Given the description of an element on the screen output the (x, y) to click on. 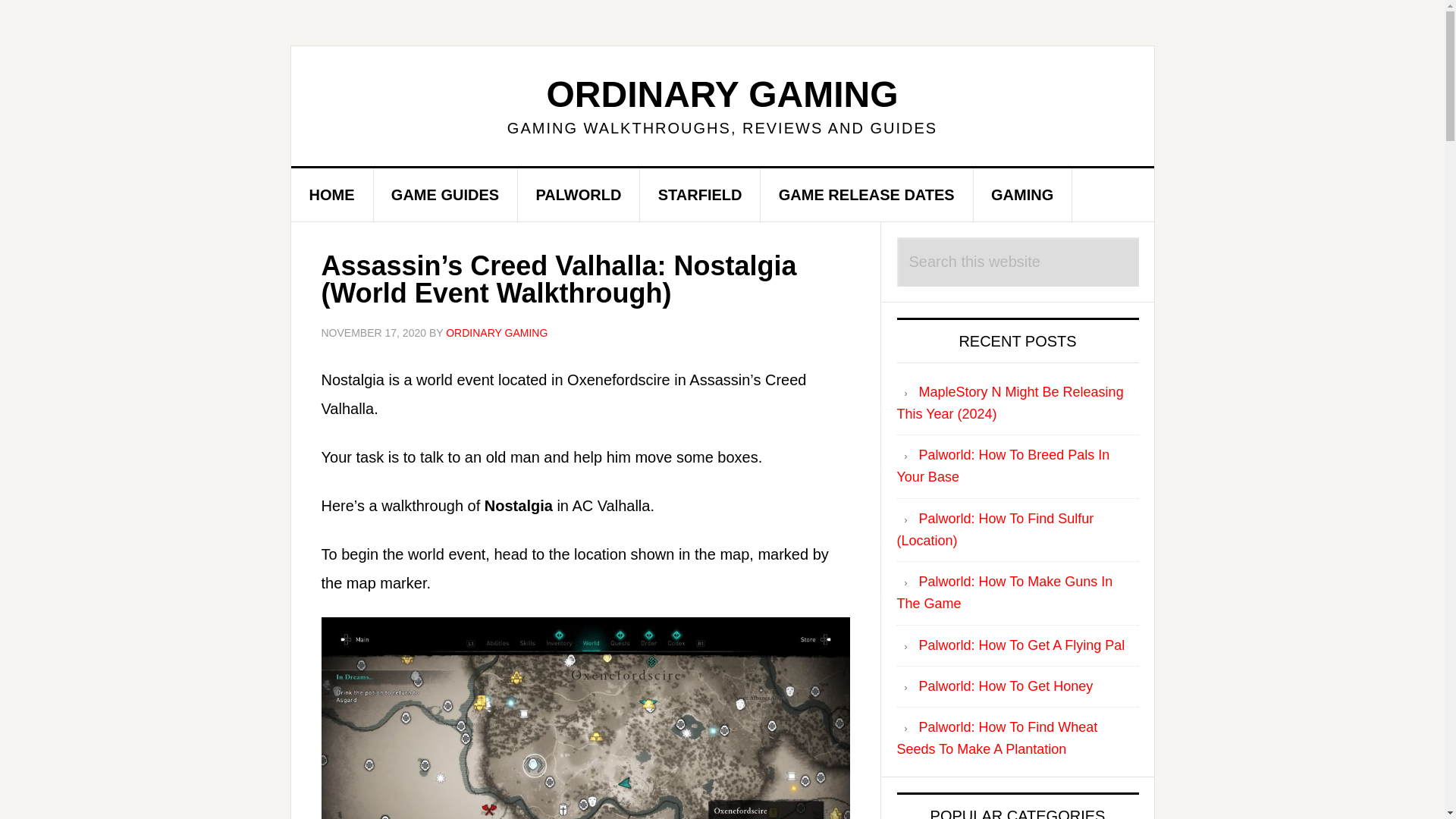
PALWORLD (578, 194)
GAME GUIDES (445, 194)
ORDINARY GAMING (722, 94)
Palworld: How To Get Honey (1005, 685)
GAME RELEASE DATES (867, 194)
STARFIELD (700, 194)
Palworld: How To Find Wheat Seeds To Make A Plantation (996, 737)
GAMING (1021, 194)
Palworld: How To Make Guns In The Game (1004, 592)
Palworld: How To Get A Flying Pal (1021, 644)
HOME (332, 194)
ORDINARY GAMING (496, 332)
Palworld: How To Breed Pals In Your Base (1002, 465)
